Given the description of an element on the screen output the (x, y) to click on. 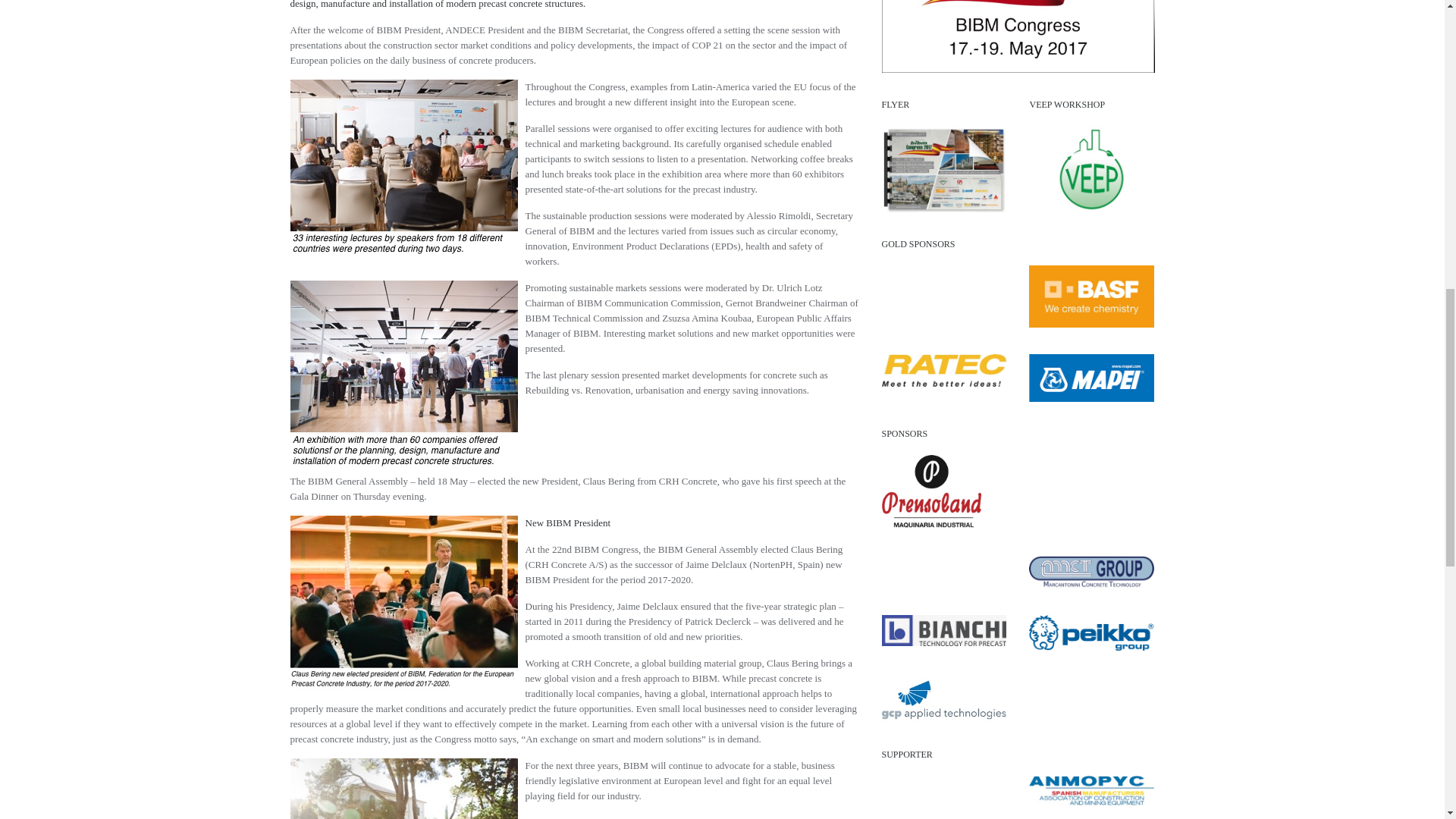
MCT Group Logo (1091, 571)
